Given the description of an element on the screen output the (x, y) to click on. 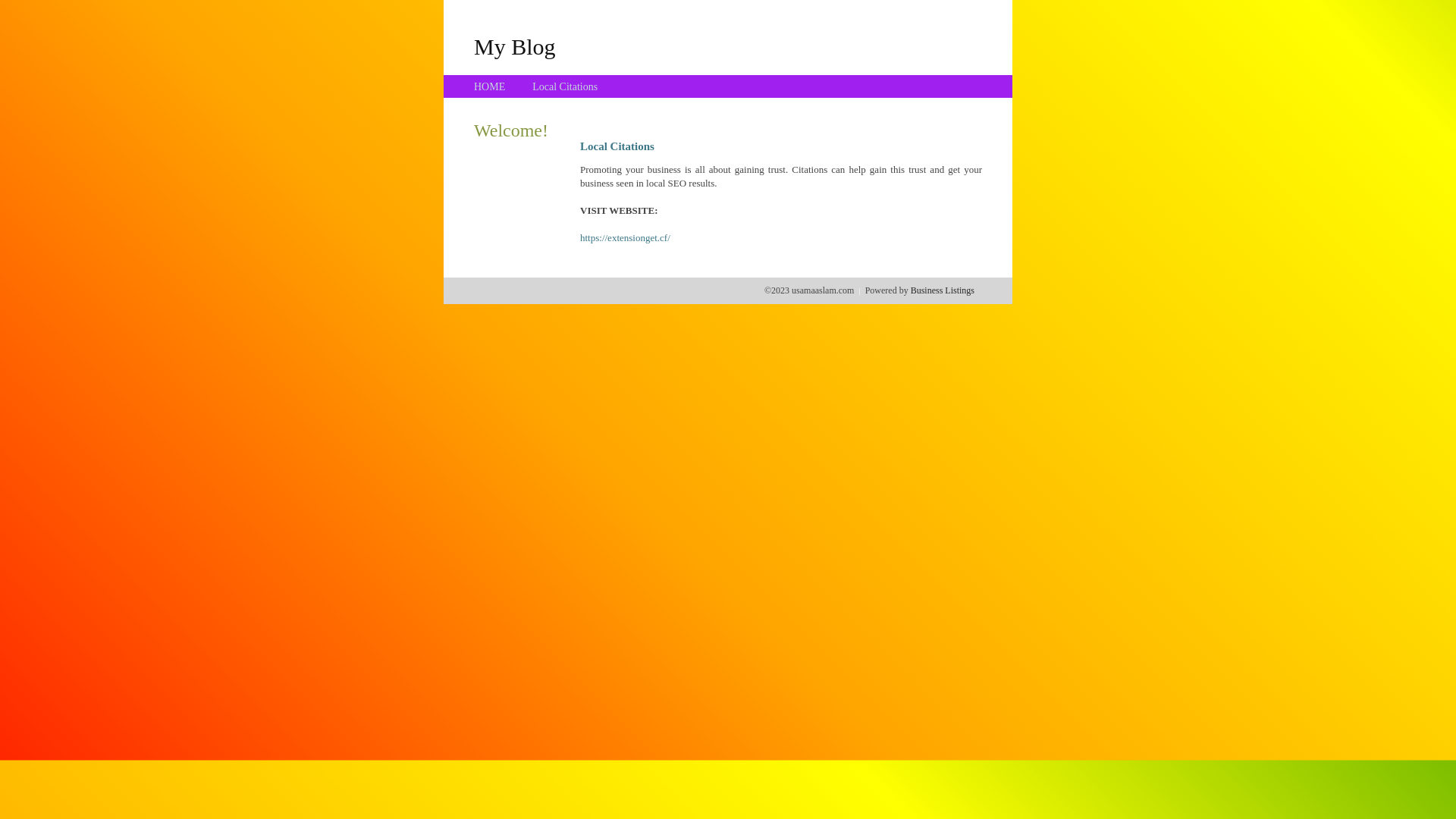
My Blog Element type: text (514, 46)
Local Citations Element type: text (564, 86)
HOME Element type: text (489, 86)
https://extensionget.cf/ Element type: text (625, 237)
Business Listings Element type: text (942, 290)
